Given the description of an element on the screen output the (x, y) to click on. 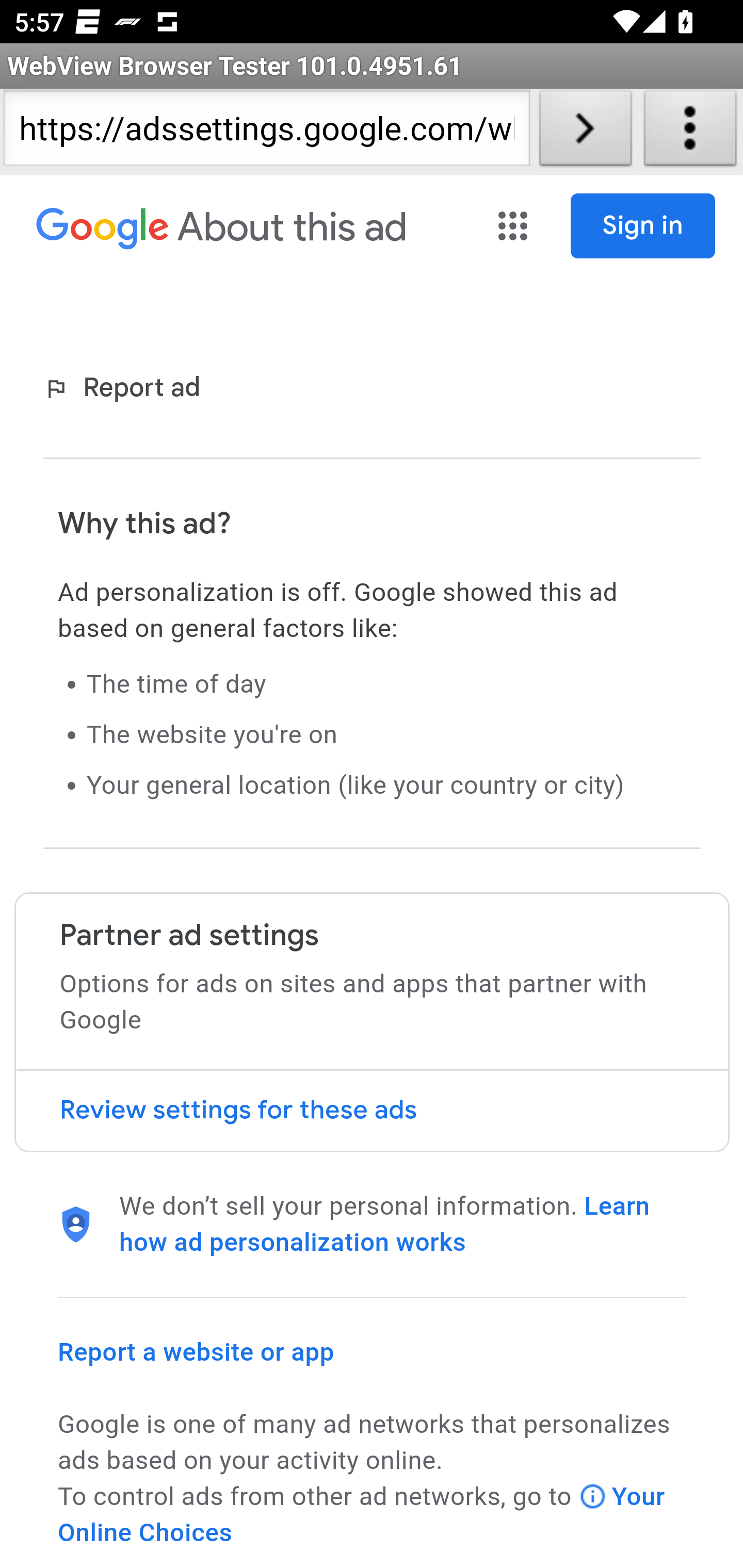
https://adssettings.google.com/whythisad (266, 132)
Load URL (585, 132)
About WebView (690, 132)
Google apps (514, 226)
Sign in (643, 226)
Report ad (opens in new tab) Report ad (126, 388)
Review settings for these ads (371, 1110)
Learn how ad personalization works (384, 1224)
Report a website or app (196, 1351)
Your Online Choices (361, 1514)
